Given the description of an element on the screen output the (x, y) to click on. 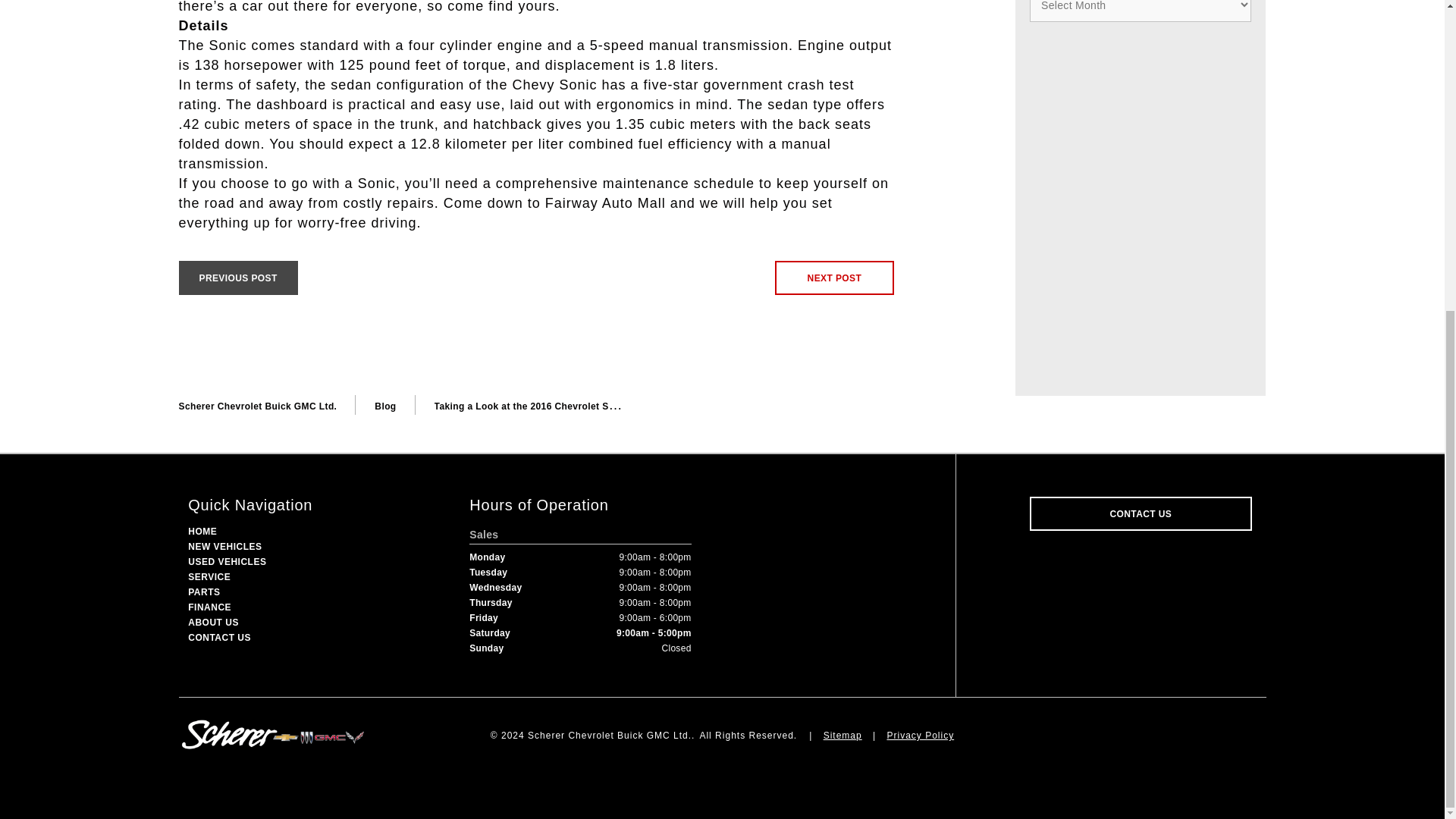
Powered by EDealer (721, 766)
Go to the Blog category archives. (385, 406)
Go to Scherer Chevrolet Buick GMC Ltd.. (258, 406)
